Given the description of an element on the screen output the (x, y) to click on. 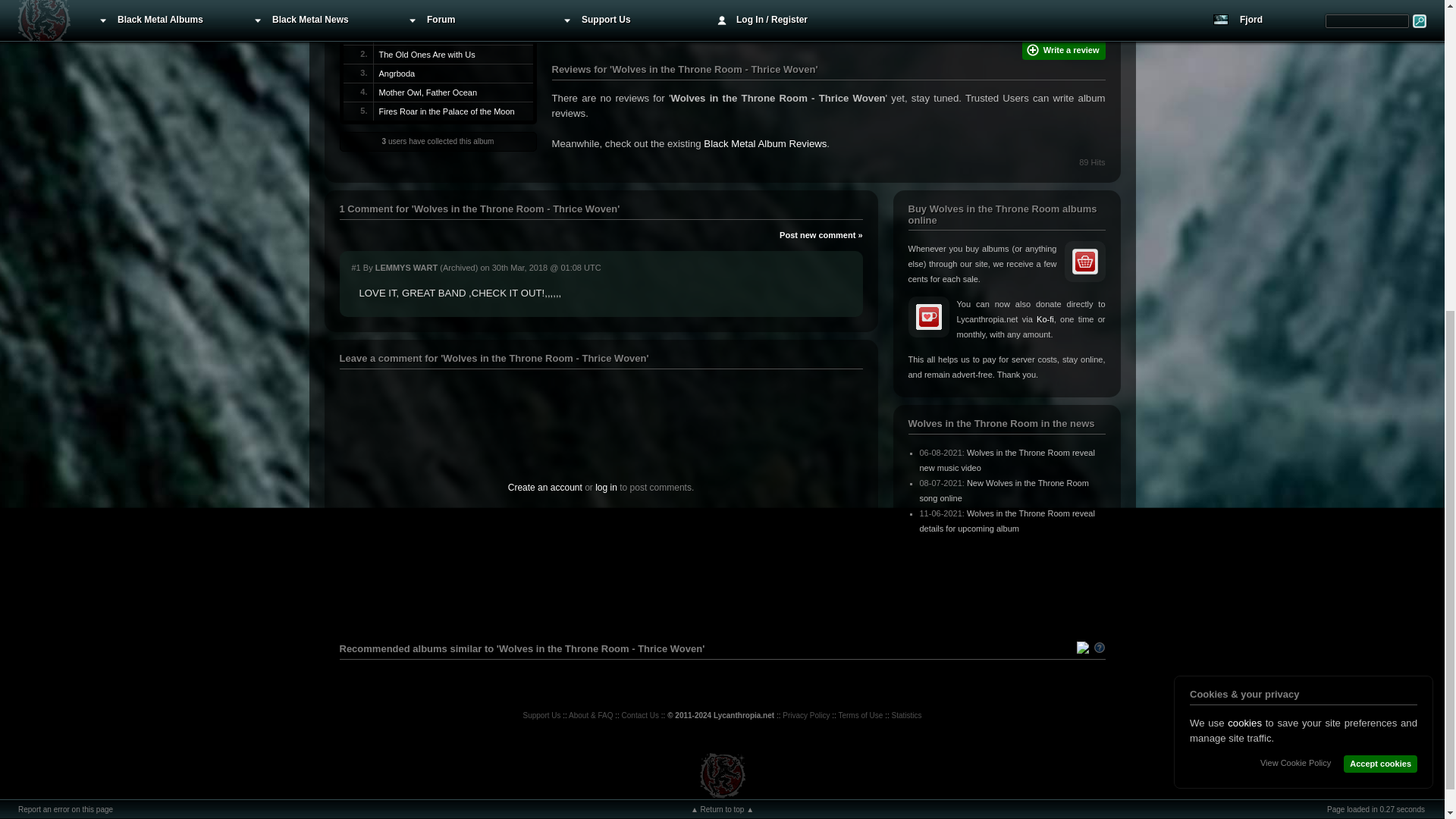
Accept cookies (1379, 249)
